Given the description of an element on the screen output the (x, y) to click on. 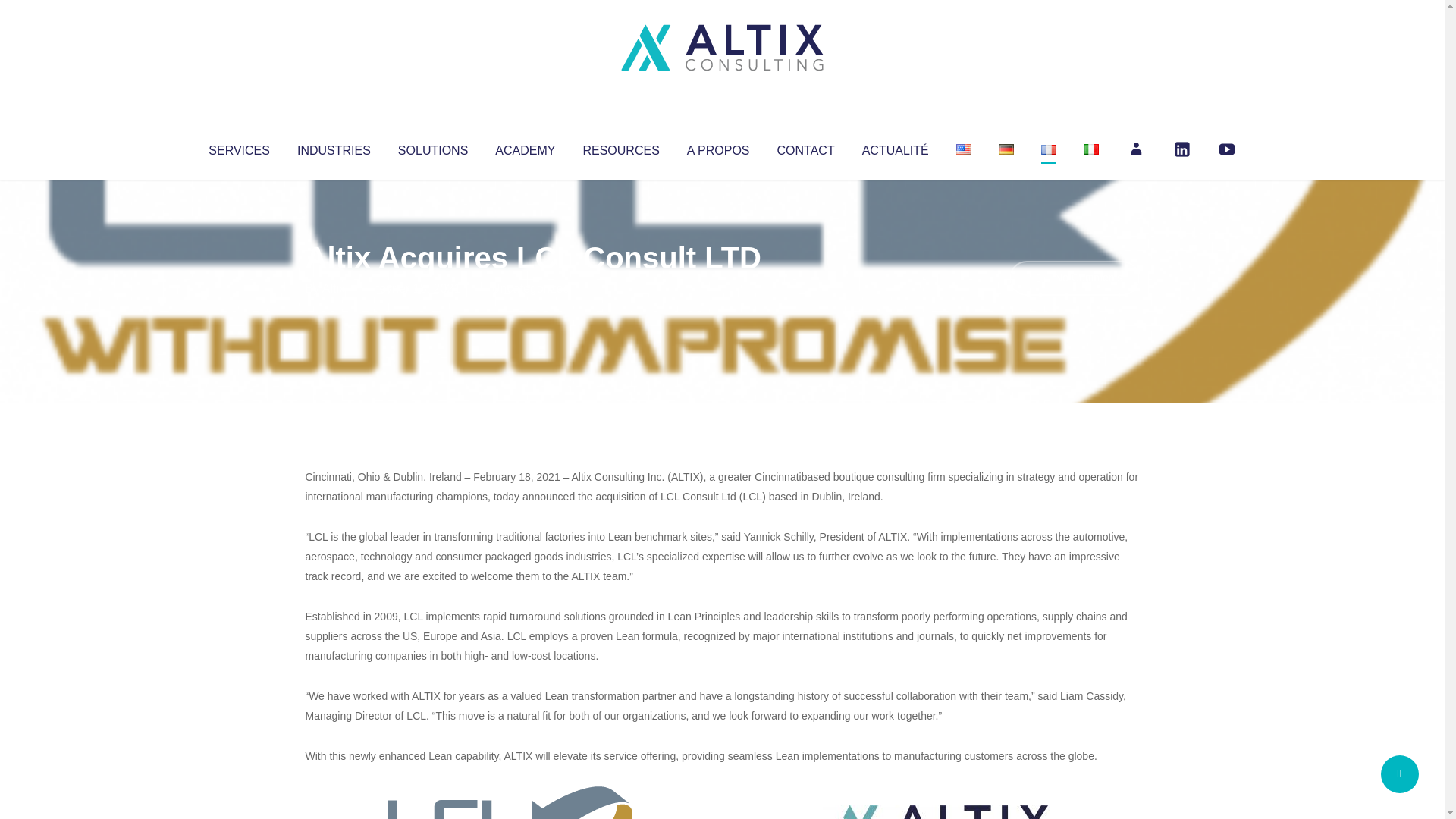
SOLUTIONS (432, 146)
SERVICES (238, 146)
RESOURCES (620, 146)
Uncategorized (530, 287)
Altix (333, 287)
A PROPOS (718, 146)
ACADEMY (524, 146)
INDUSTRIES (334, 146)
No Comments (1073, 278)
Articles par Altix (333, 287)
